Given the description of an element on the screen output the (x, y) to click on. 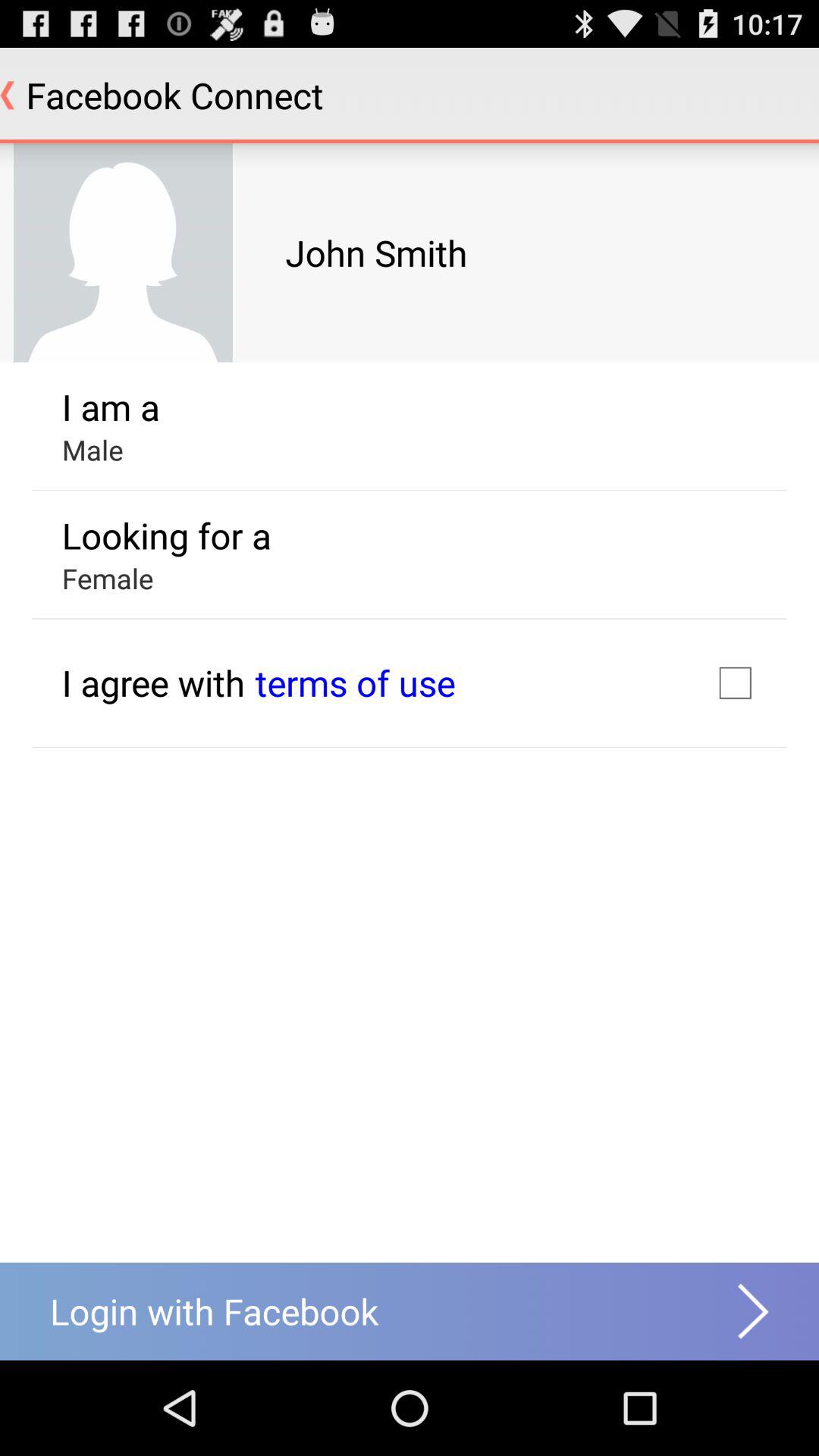
press the looking for a icon (166, 535)
